Given the description of an element on the screen output the (x, y) to click on. 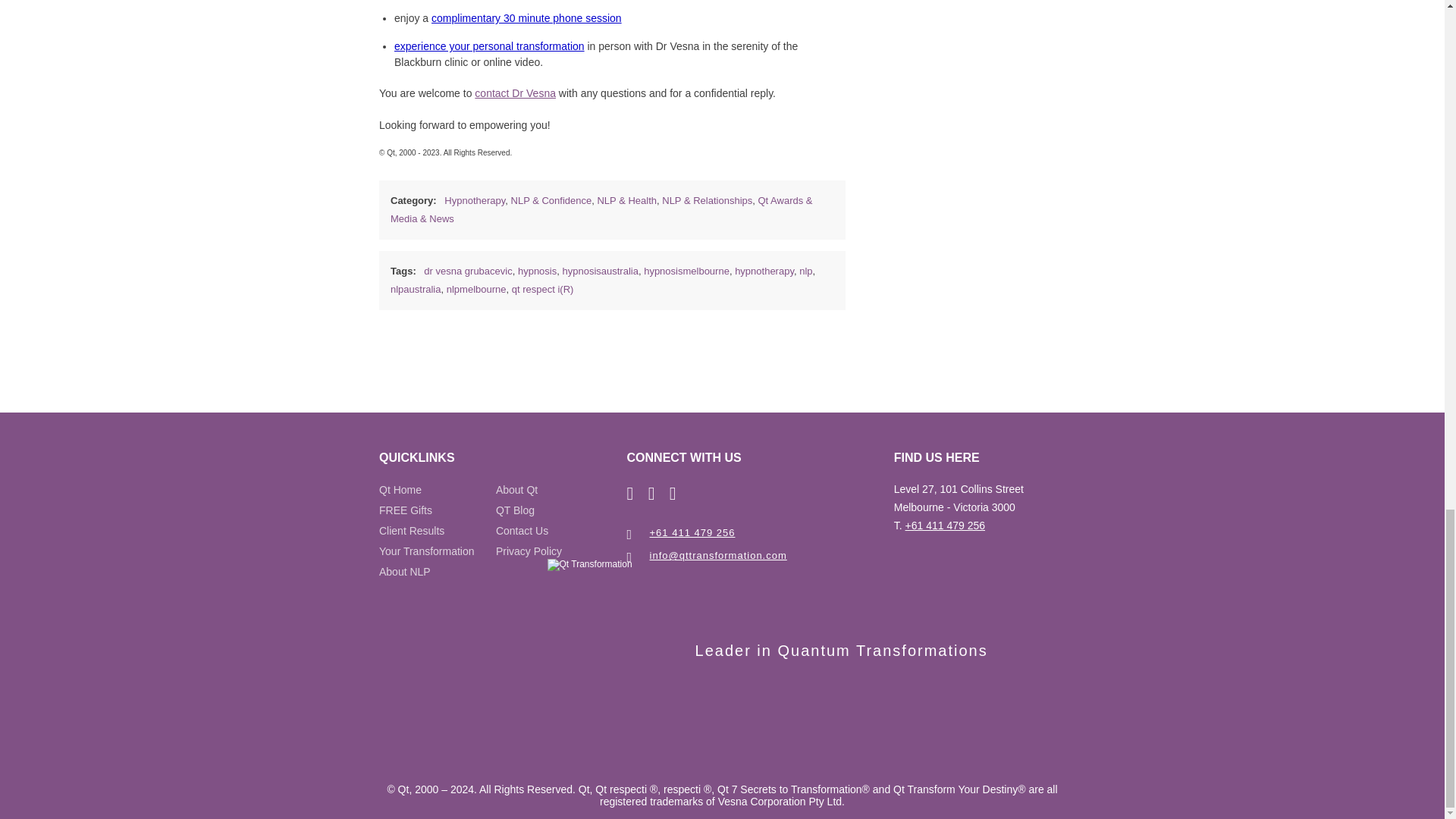
experience your personal transformation (489, 46)
contact Dr Vesna (515, 92)
complimentary 30 minute phone session (525, 18)
